Given the description of an element on the screen output the (x, y) to click on. 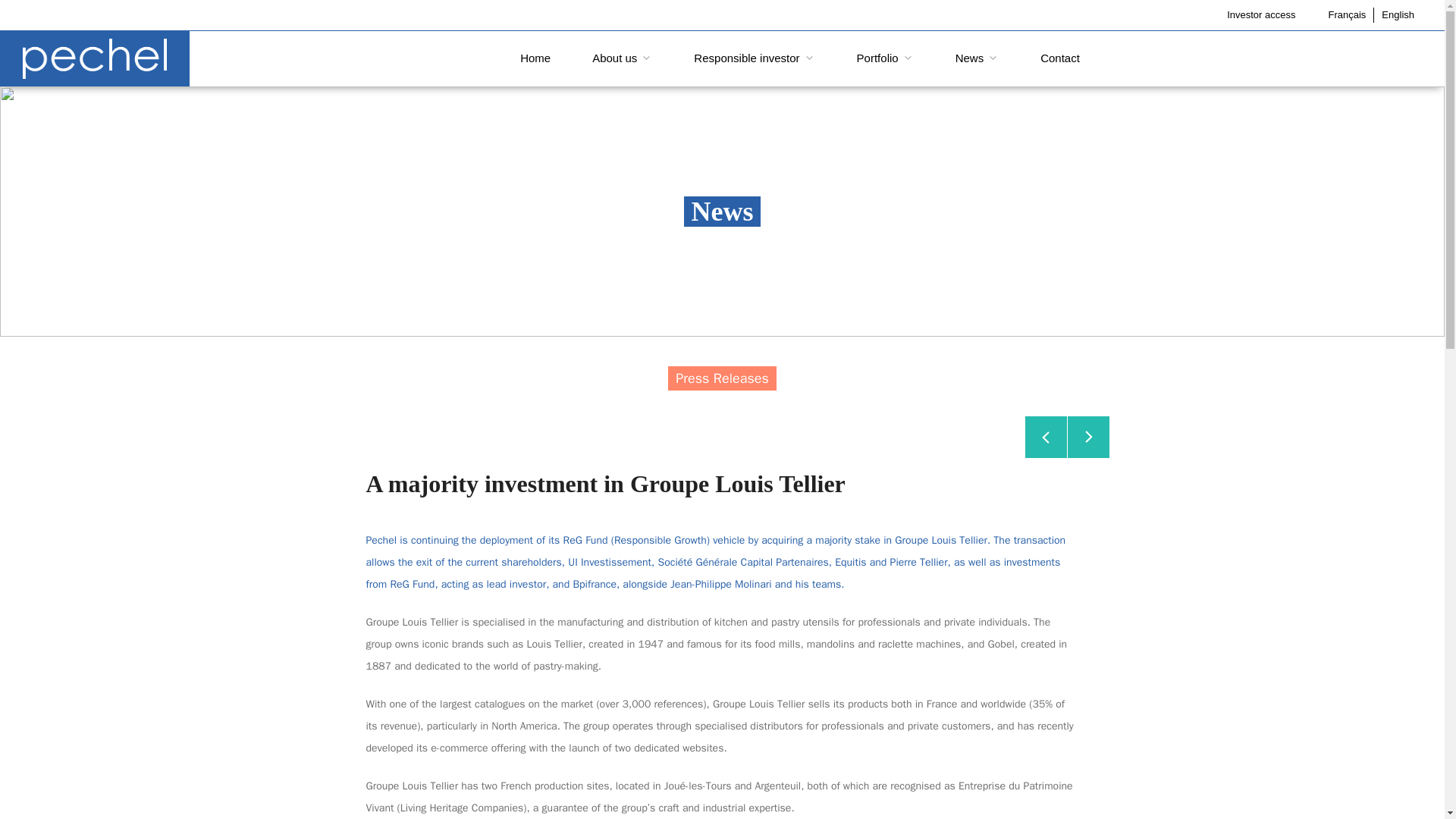
Investor access (1261, 14)
Portfolio (884, 58)
English (1397, 14)
Contact (1059, 58)
Home (535, 58)
Pechel (94, 57)
Pechel (94, 58)
News (977, 58)
About us (621, 58)
Responsible investor (753, 58)
